Given the description of an element on the screen output the (x, y) to click on. 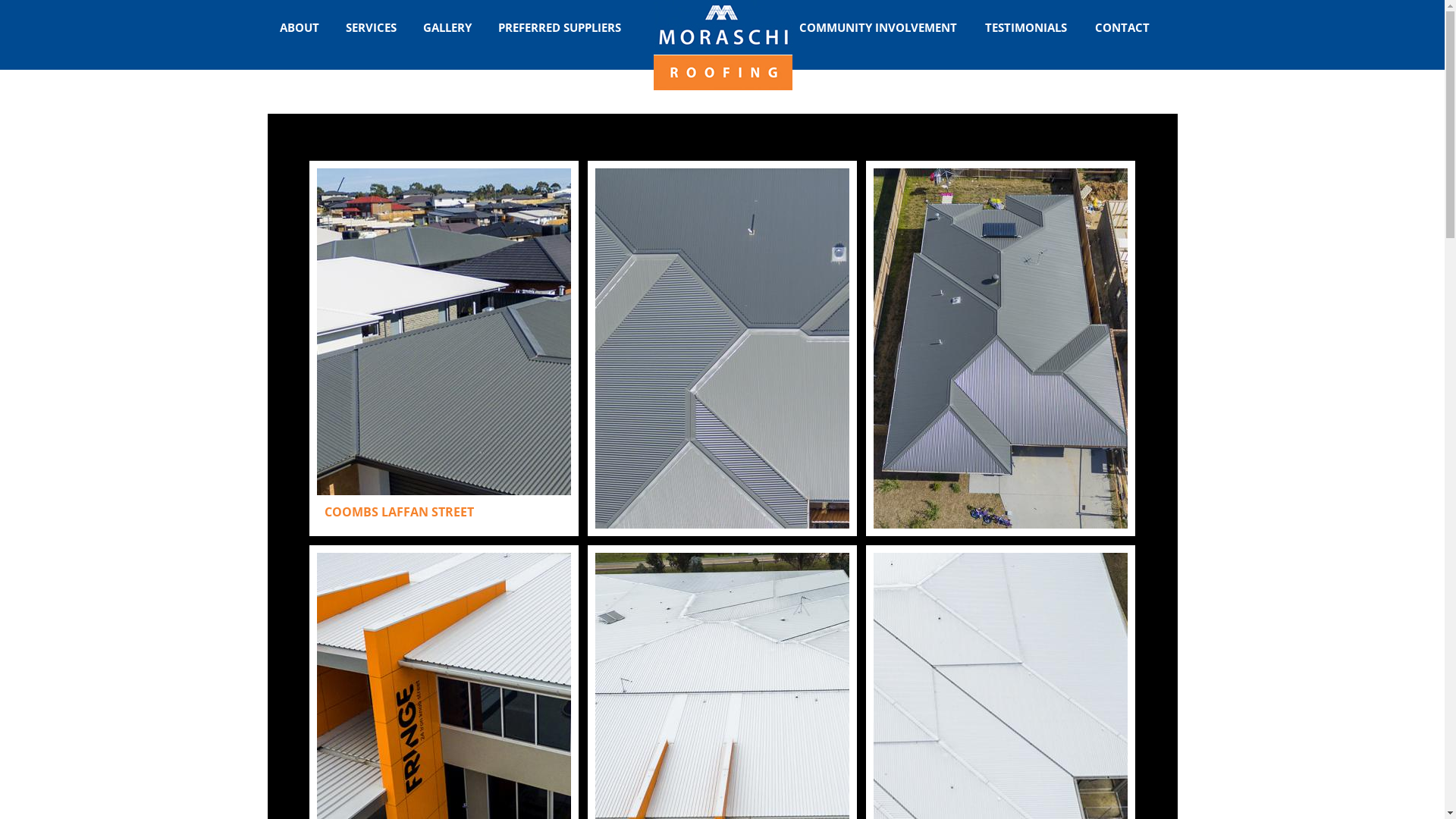
ABOUT Element type: text (298, 27)
GALLERY Element type: text (447, 27)
CONTACT Element type: text (1121, 27)
SERVICES Element type: text (370, 27)
PREFERRED SUPPLIERS Element type: text (558, 27)
TESTIMONIALS Element type: text (1025, 27)
COMMUNITY INVOLVEMENT Element type: text (877, 27)
HOME Element type: text (722, 45)
Skip to main content Element type: text (695, 1)
